Given the description of an element on the screen output the (x, y) to click on. 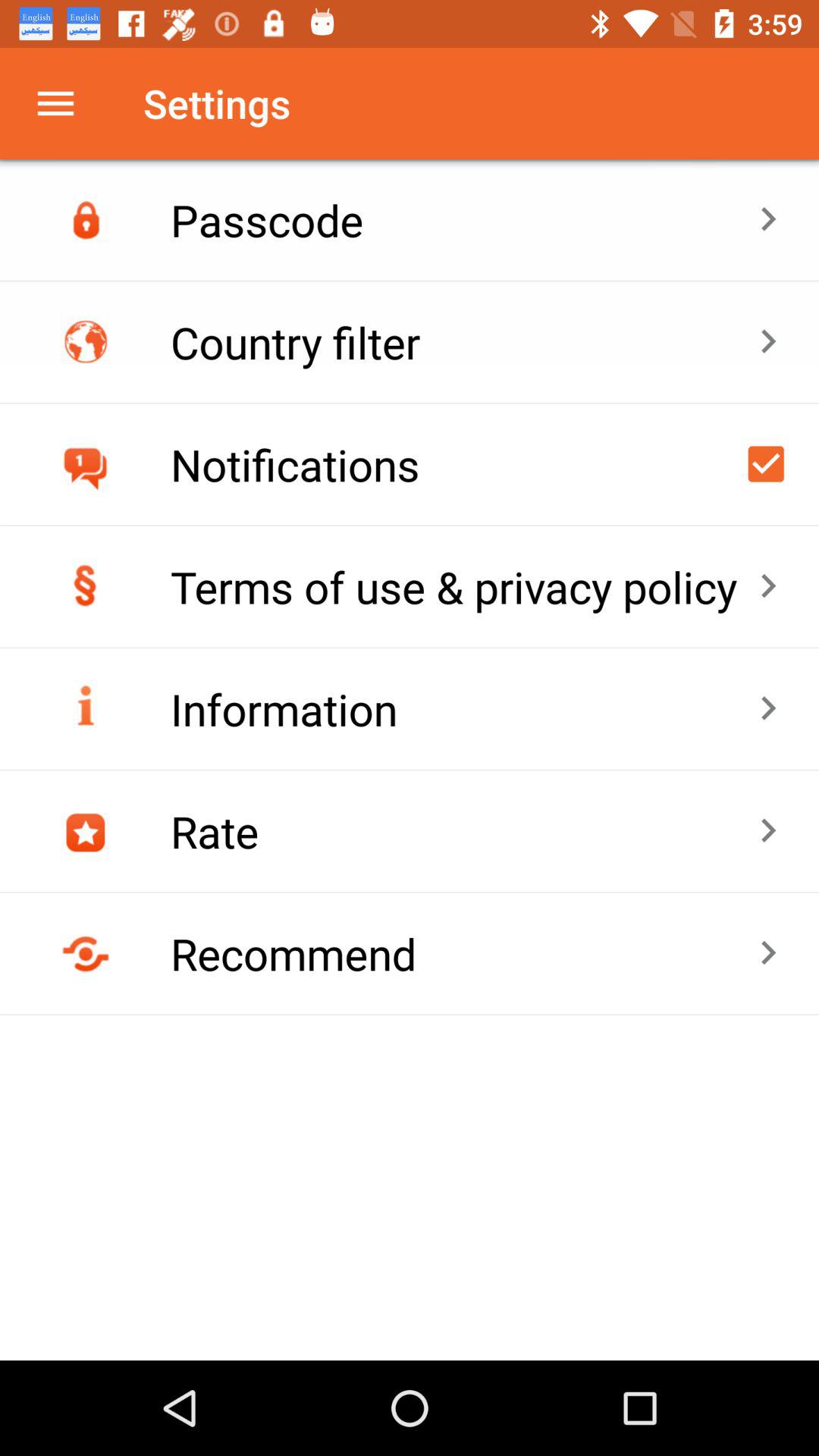
press the rate item (464, 830)
